Given the description of an element on the screen output the (x, y) to click on. 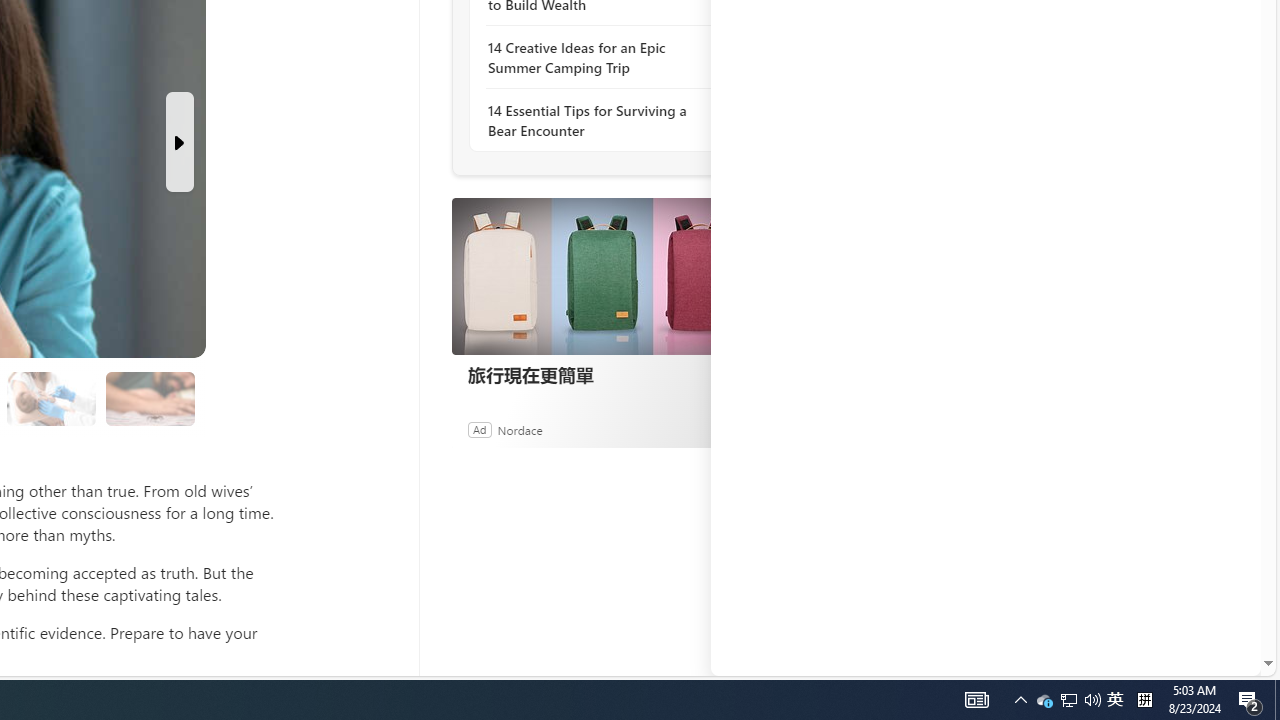
Next Slide (179, 142)
12. Invest in a Spider Catcher (150, 398)
12. Invest in a Spider Catcher (149, 399)
5. Childhood Was High-Risk (51, 399)
14 Essential Tips for Surviving a Bear Encounter (596, 120)
Class: progress (149, 394)
14 Creative Ideas for an Epic Summer Camping Trip (596, 57)
